Given the description of an element on the screen output the (x, y) to click on. 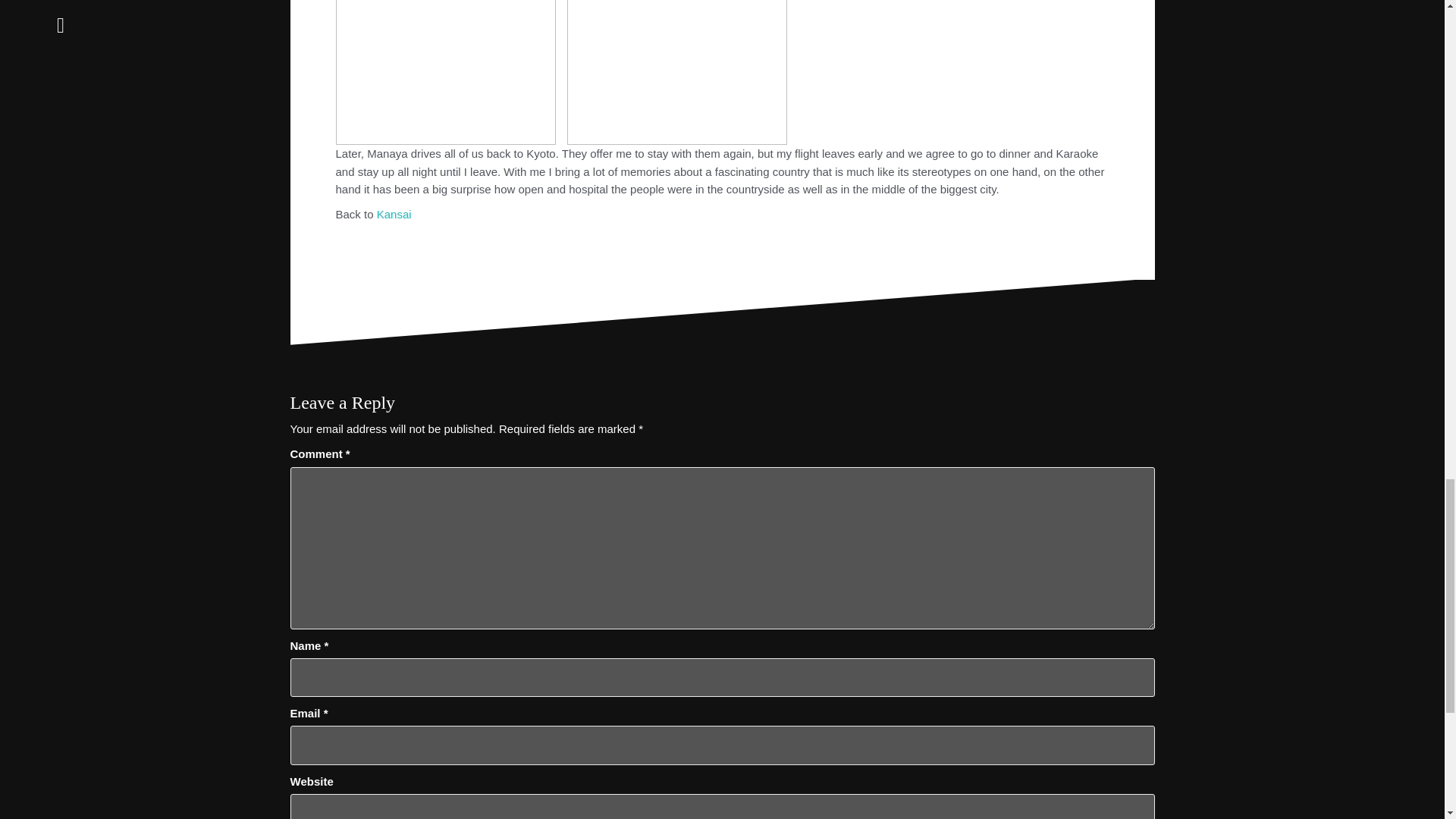
Kansai (394, 214)
